Given the description of an element on the screen output the (x, y) to click on. 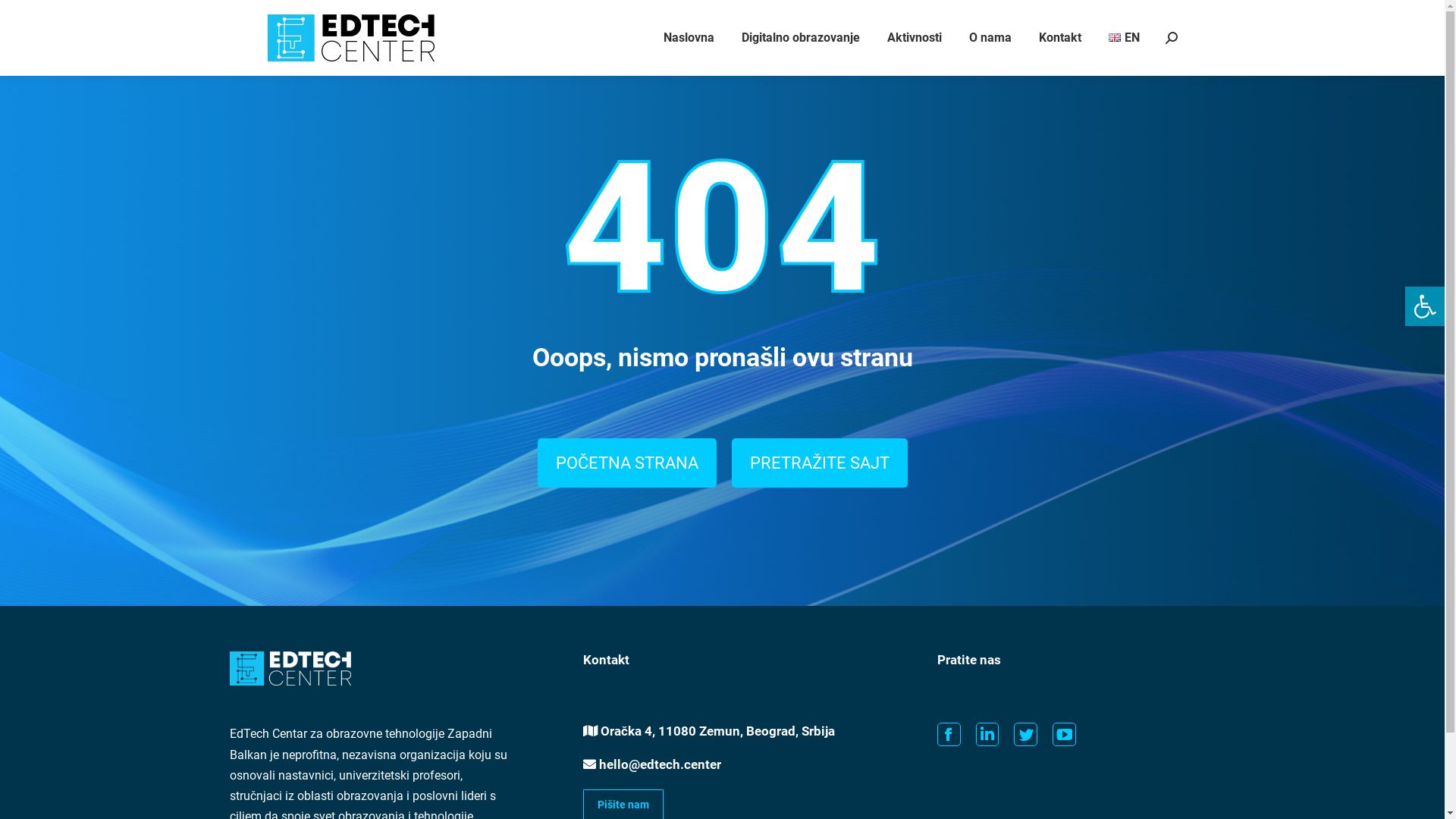
Aktivnosti Element type: text (914, 37)
Digitalno obrazovanje Element type: text (800, 37)
Kontakt Element type: text (1059, 37)
Naslovna Element type: text (688, 37)
EN Element type: text (1123, 37)
Go! Element type: text (23, 15)
O nama Element type: text (990, 37)
